Given the description of an element on the screen output the (x, y) to click on. 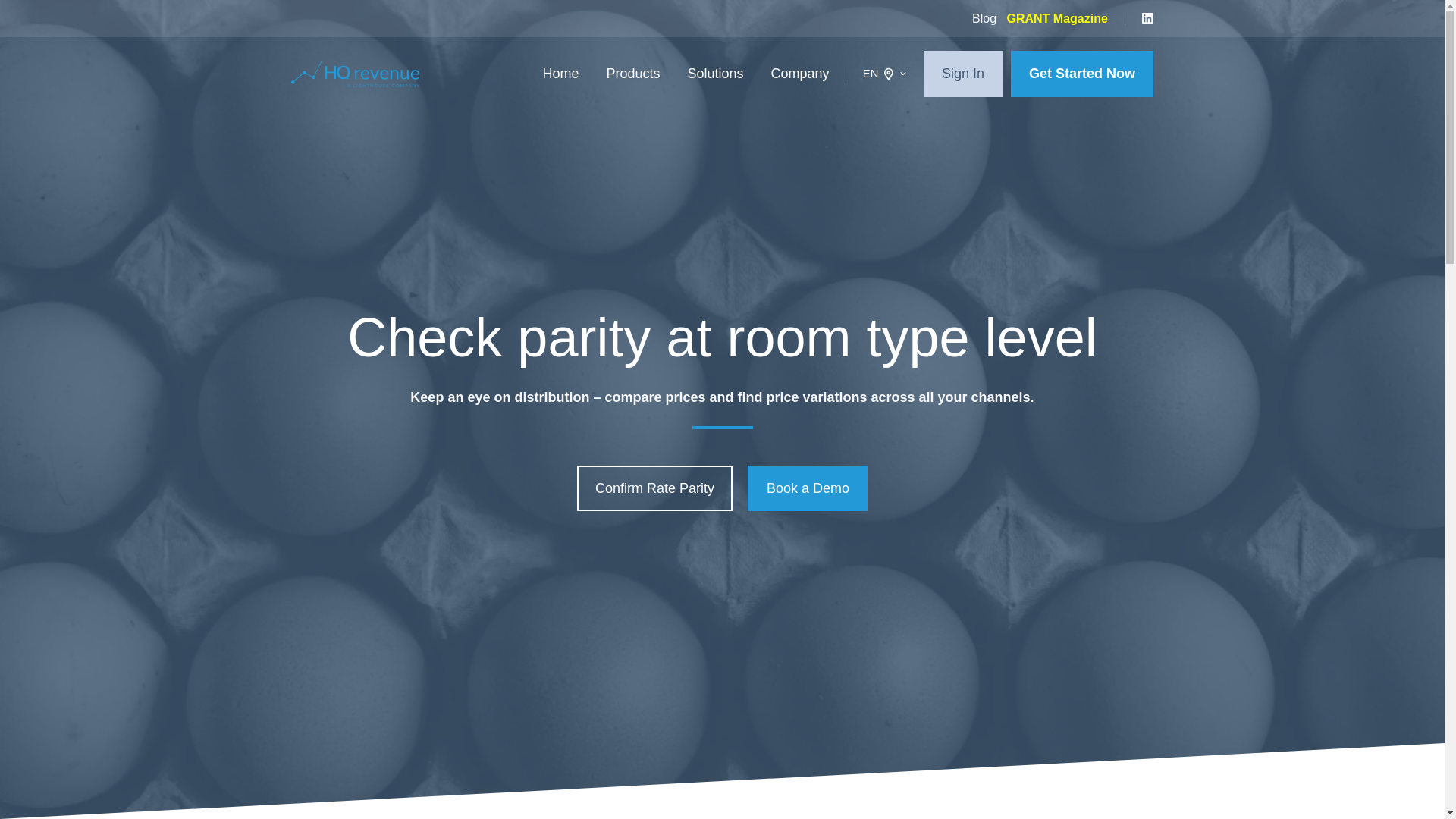
Blog (983, 18)
EN (885, 73)
Confirm Rate Parity (654, 488)
Company (800, 73)
GRANT Magazine (1056, 18)
Home (559, 73)
Book a Demo (807, 488)
Solutions (715, 73)
Get Started Now (1082, 73)
Sign In (963, 73)
